Given the description of an element on the screen output the (x, y) to click on. 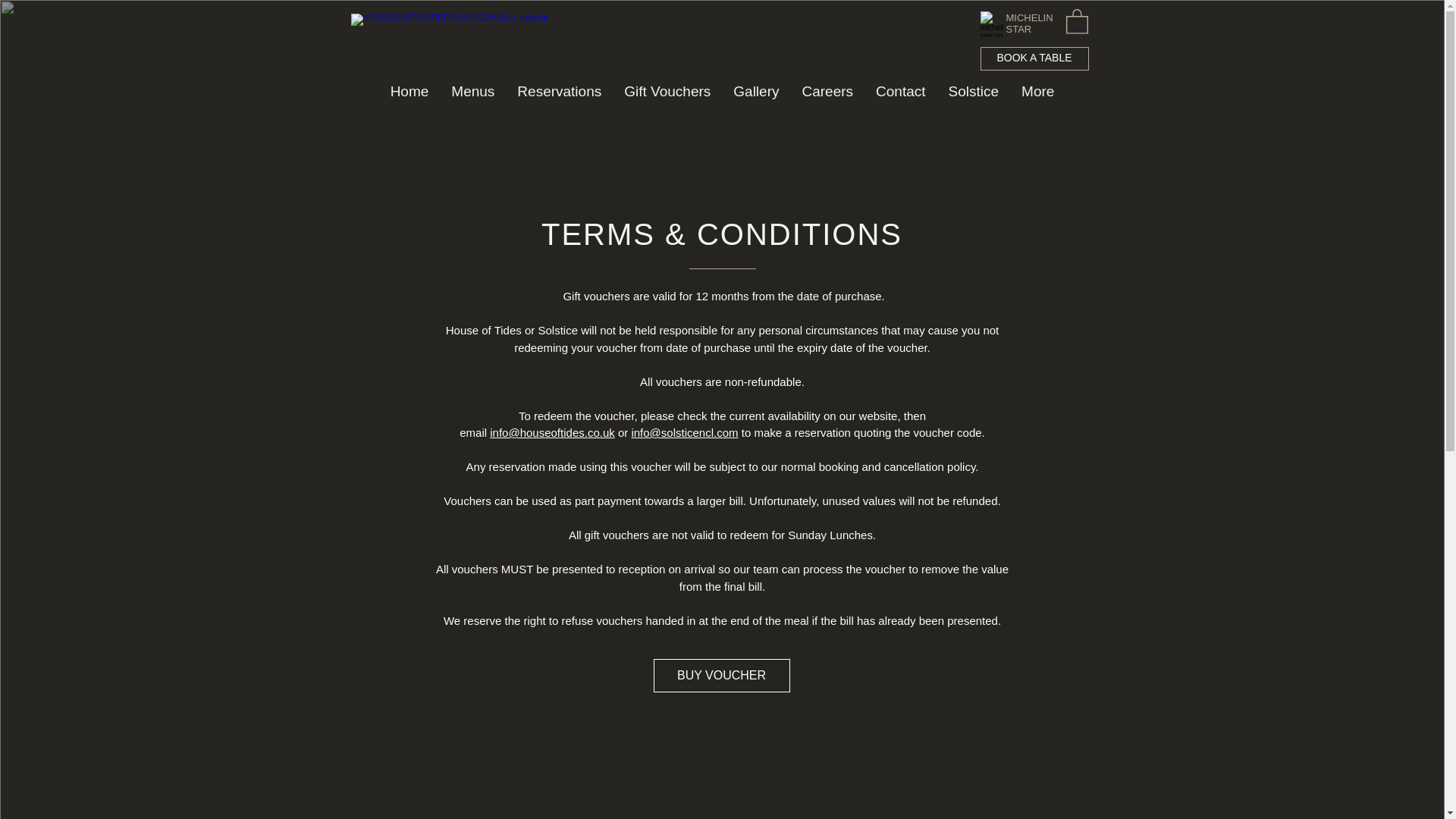
Careers (827, 96)
Reservations (558, 96)
Contact (900, 96)
Menus (472, 96)
Gallery (756, 96)
BUY VOUCHER (721, 675)
Gift Vouchers (667, 96)
BOOK A TABLE (1033, 58)
Solstice (973, 96)
Home (409, 96)
